Given the description of an element on the screen output the (x, y) to click on. 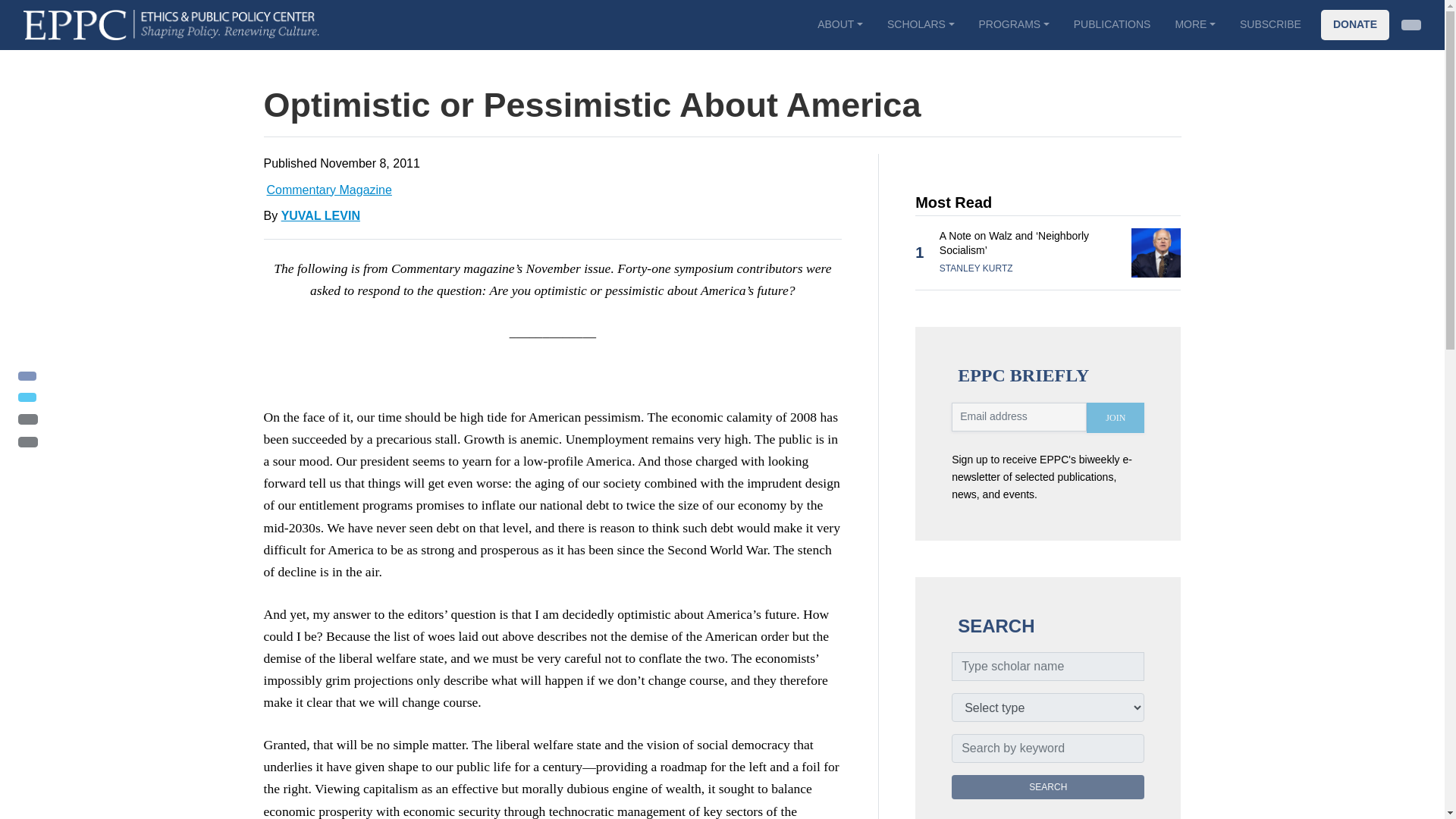
SCHOLARS (920, 24)
ABOUT (840, 24)
JOIN (1115, 417)
